Given the description of an element on the screen output the (x, y) to click on. 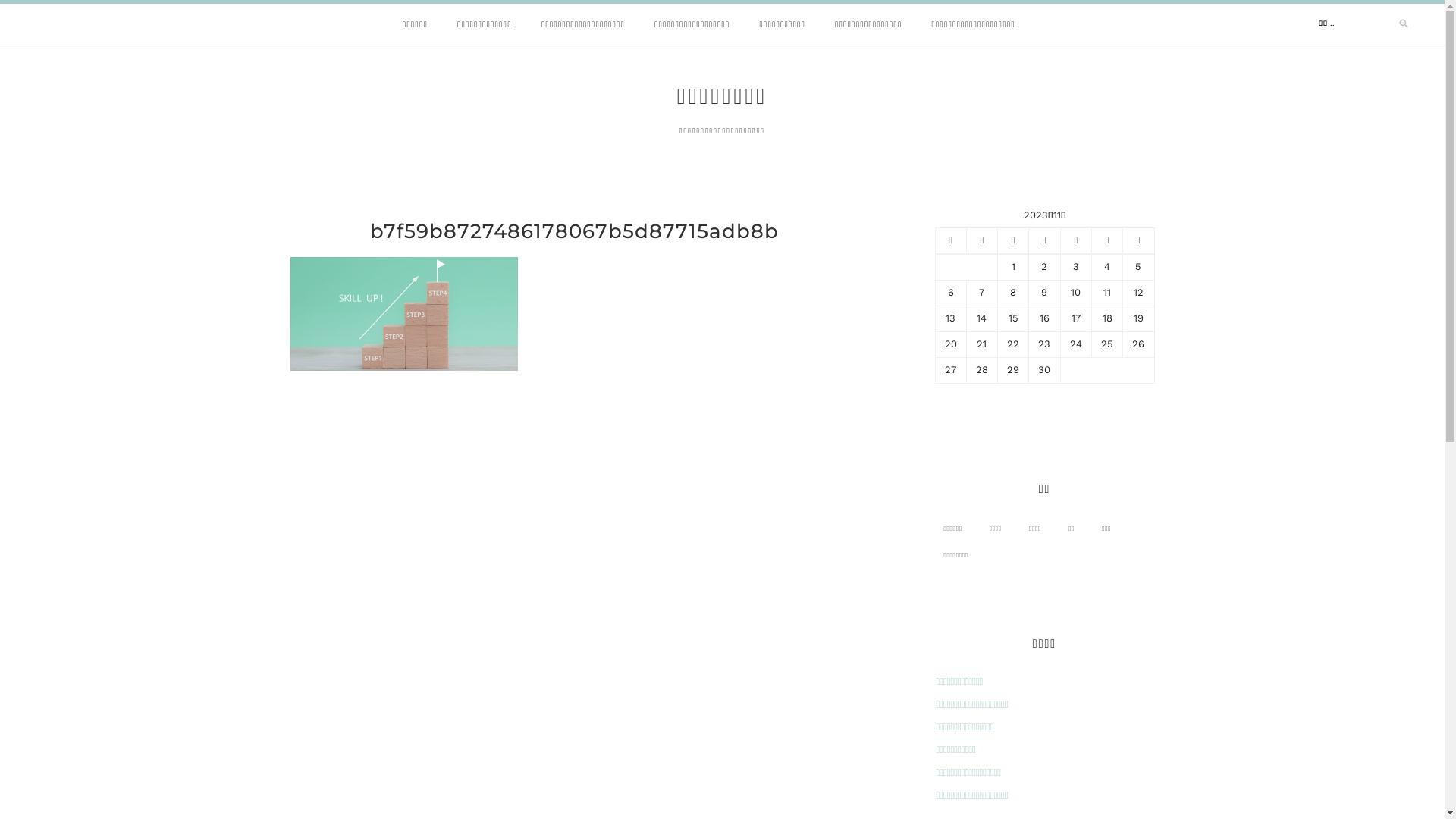
Skip to content Element type: text (0, 0)
